Given the description of an element on the screen output the (x, y) to click on. 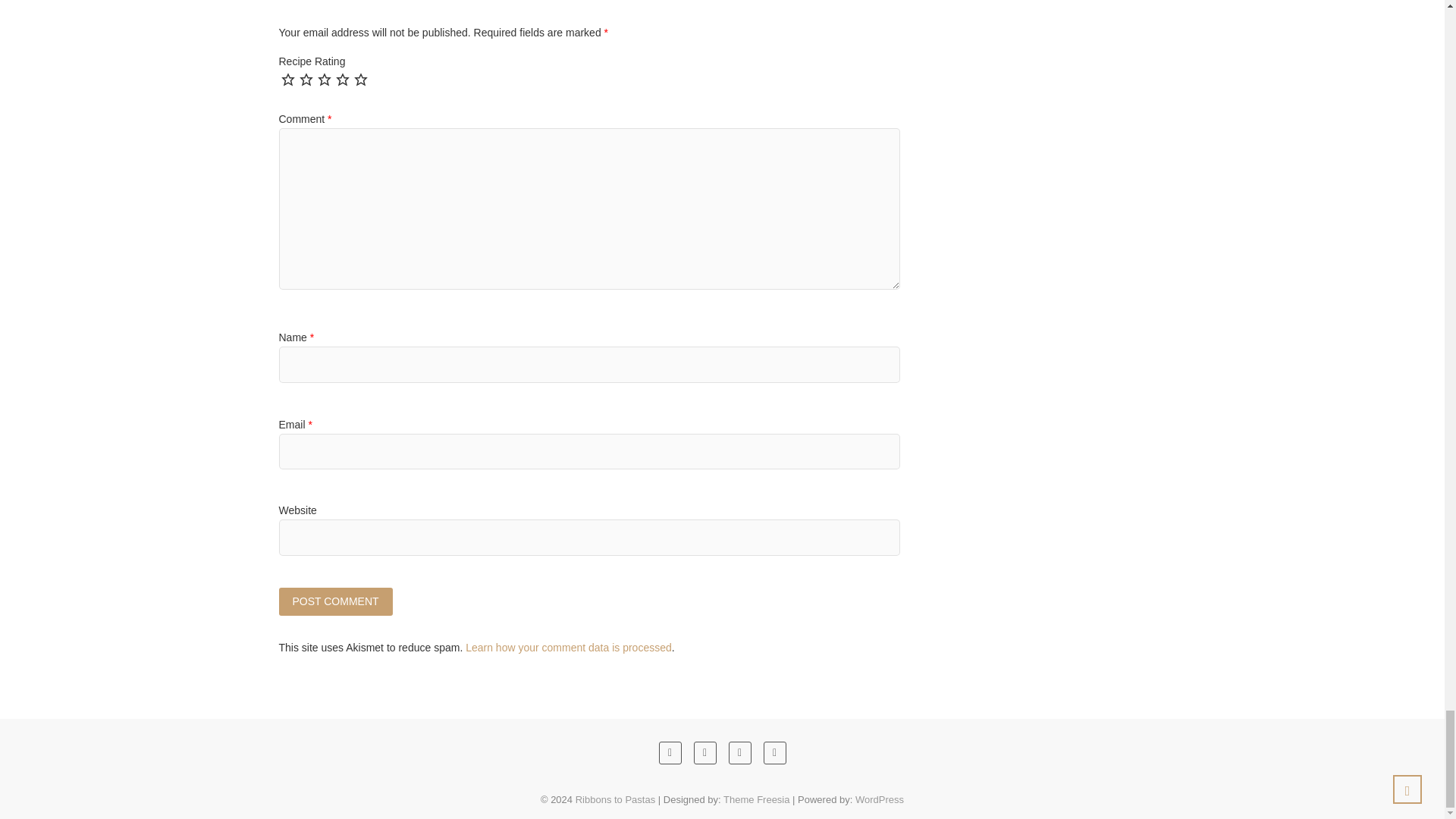
WordPress (880, 799)
Post Comment (336, 601)
Ribbons to Pastas (615, 799)
Theme Freesia (756, 799)
